Given the description of an element on the screen output the (x, y) to click on. 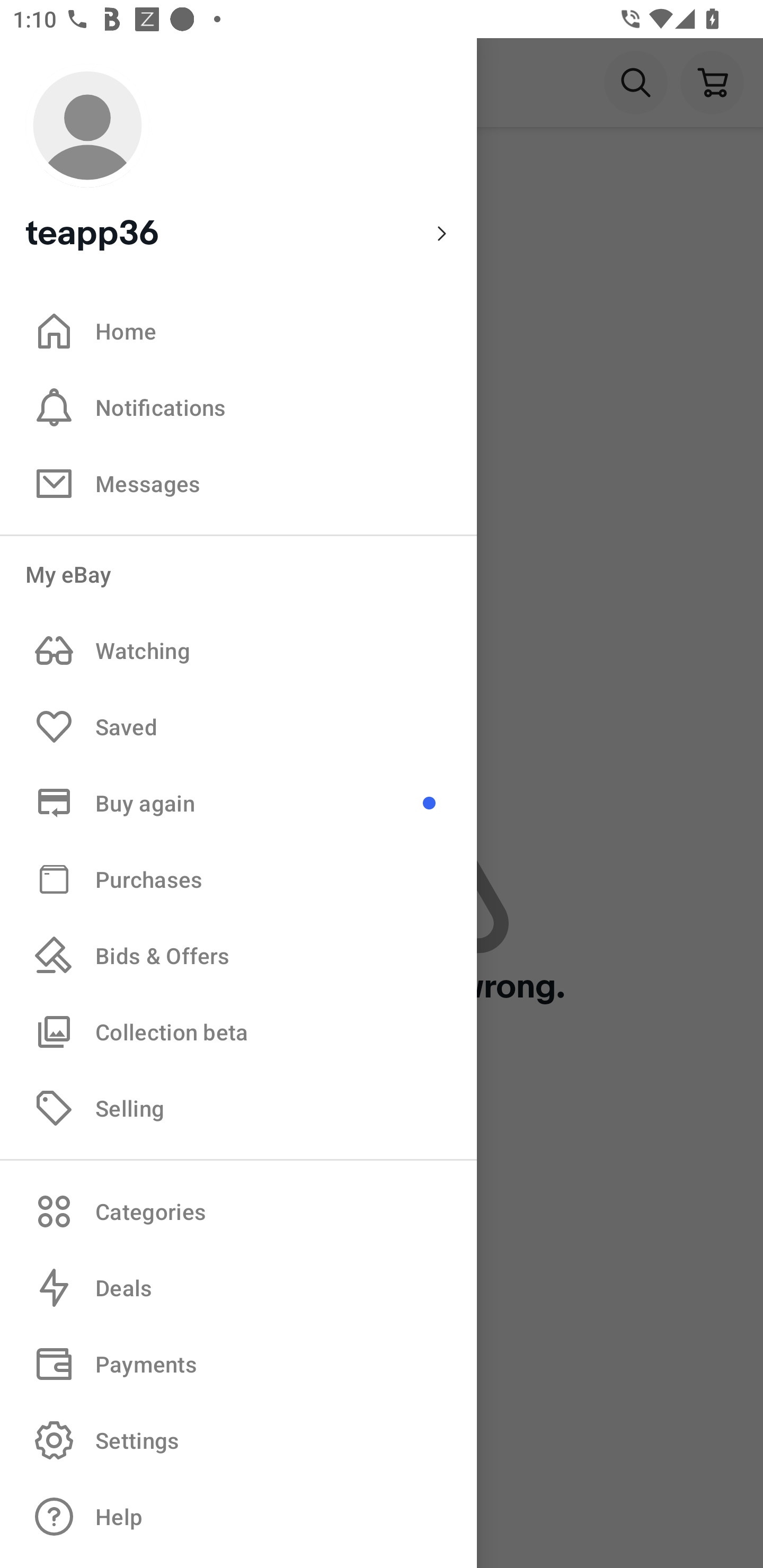
teapp36 (238, 158)
Home (238, 330)
Notifications (238, 406)
Messages (238, 483)
Watching (238, 650)
Saved (238, 726)
Buy again Is new feature (238, 802)
Purchases (238, 878)
Bids & Offers (238, 955)
Collection beta (238, 1031)
Selling (238, 1107)
Categories (238, 1210)
Deals (238, 1287)
Payments (238, 1363)
Settings (238, 1439)
Help (238, 1516)
